Given the description of an element on the screen output the (x, y) to click on. 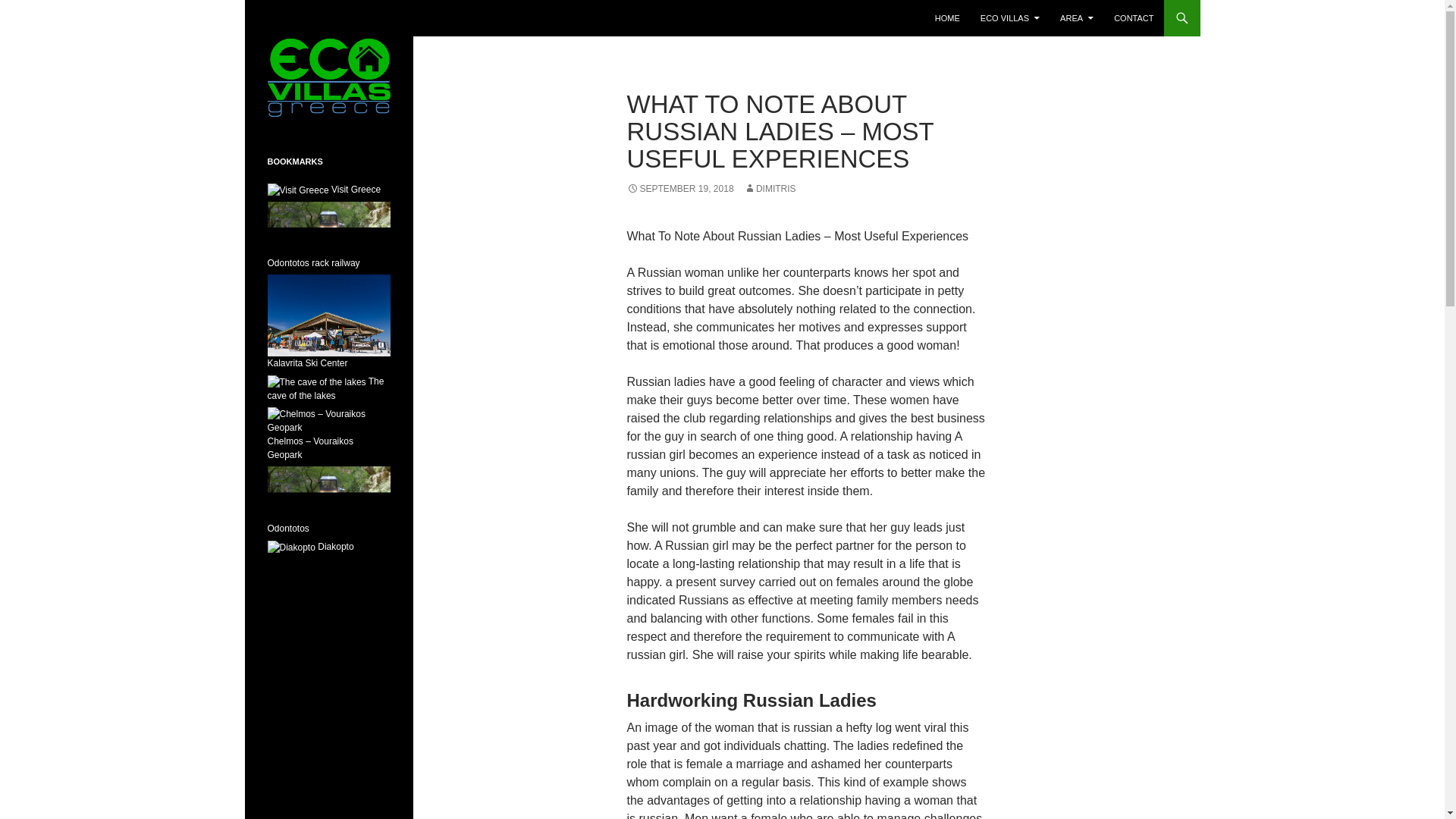
ECO VILLAS (1009, 18)
DIMITRIS (770, 188)
SEPTEMBER 19, 2018 (679, 188)
Eco Villas Greece (323, 18)
Odontotos rack railway (328, 245)
The cave of the lakes (325, 388)
Kalavrita Ski Center (328, 339)
Odontotos (328, 510)
HOME (947, 18)
Diakopto (309, 546)
AREA (1076, 18)
Unique cave with lakes inside (315, 382)
Visit Greece (323, 189)
CONTACT (1133, 18)
Unique cave with lakes inside (325, 388)
